Given the description of an element on the screen output the (x, y) to click on. 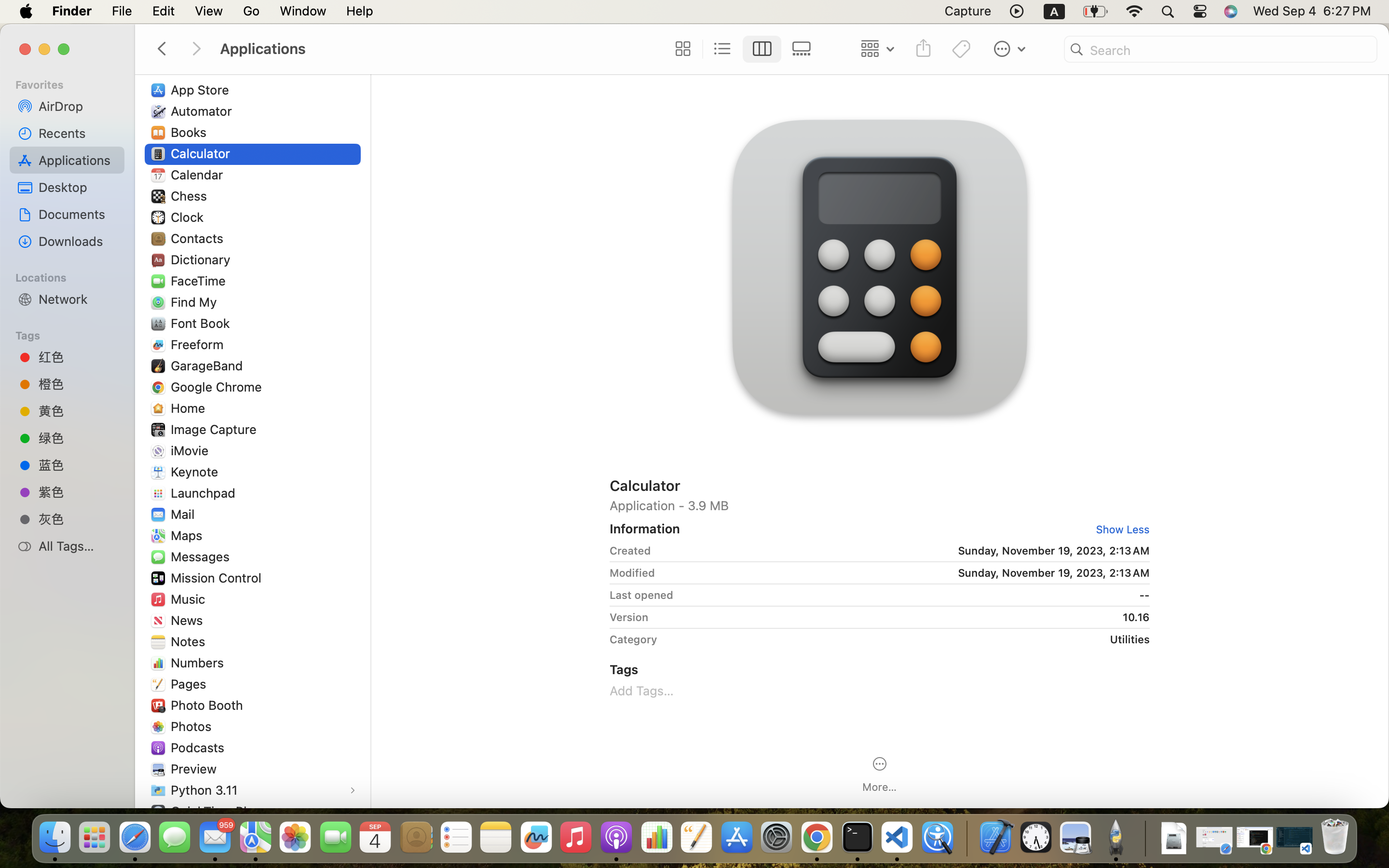
Last opened Element type: AXStaticText (641, 594)
Photo Booth Element type: AXTextField (208, 704)
Modified Element type: AXStaticText (631, 572)
Preview Element type: AXTextField (195, 768)
Locations Element type: AXStaticText (72, 276)
